Given the description of an element on the screen output the (x, y) to click on. 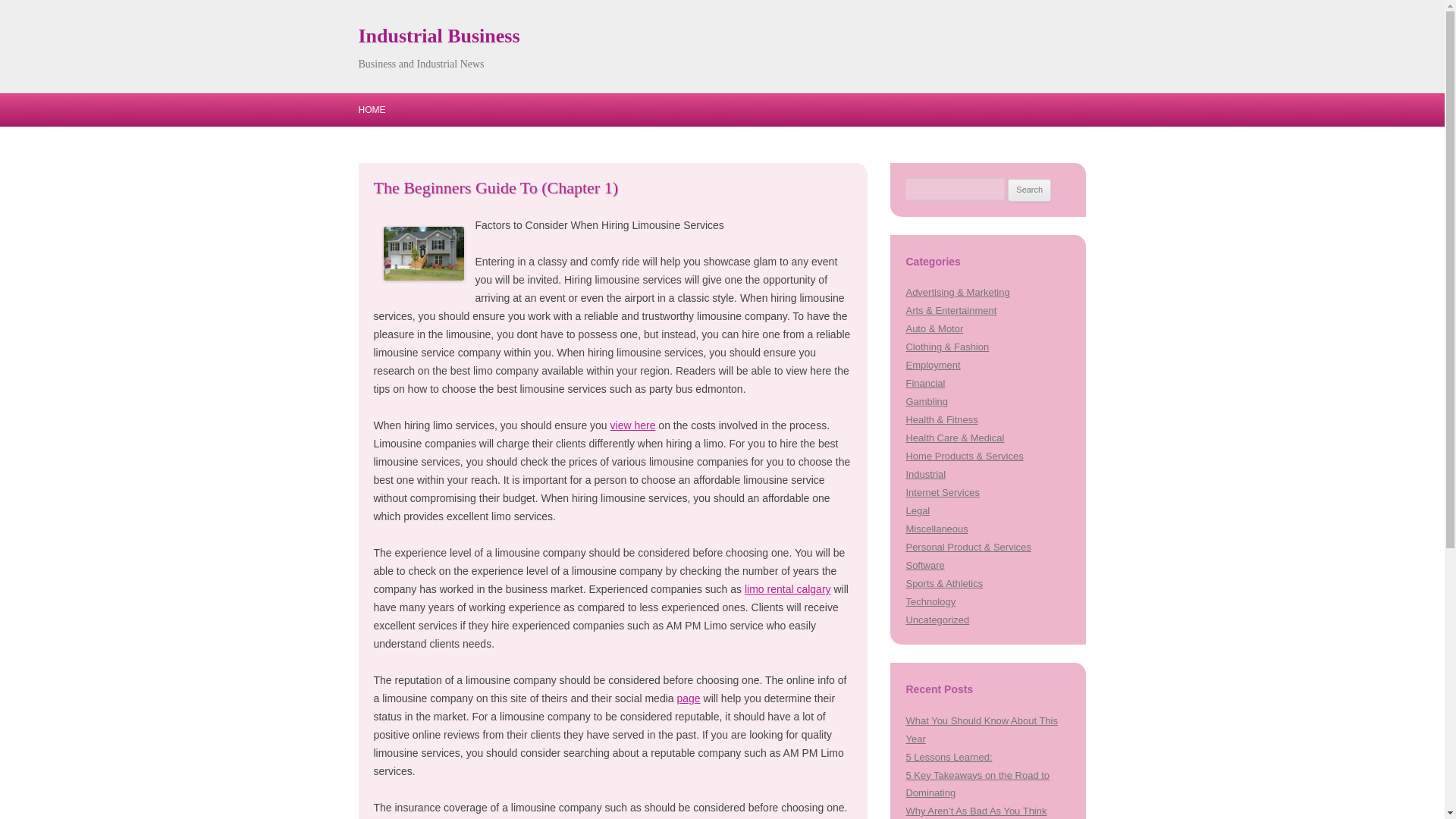
Uncategorized (937, 619)
Internet Services (941, 491)
5 Key Takeaways on the Road to Dominating (977, 783)
page (688, 698)
Miscellaneous (936, 528)
Industrial (924, 473)
limo rental calgary (787, 589)
Employment (932, 365)
Search (1029, 190)
What You Should Know About This Year (981, 729)
Software (924, 564)
view here (633, 425)
Technology (930, 601)
